Given the description of an element on the screen output the (x, y) to click on. 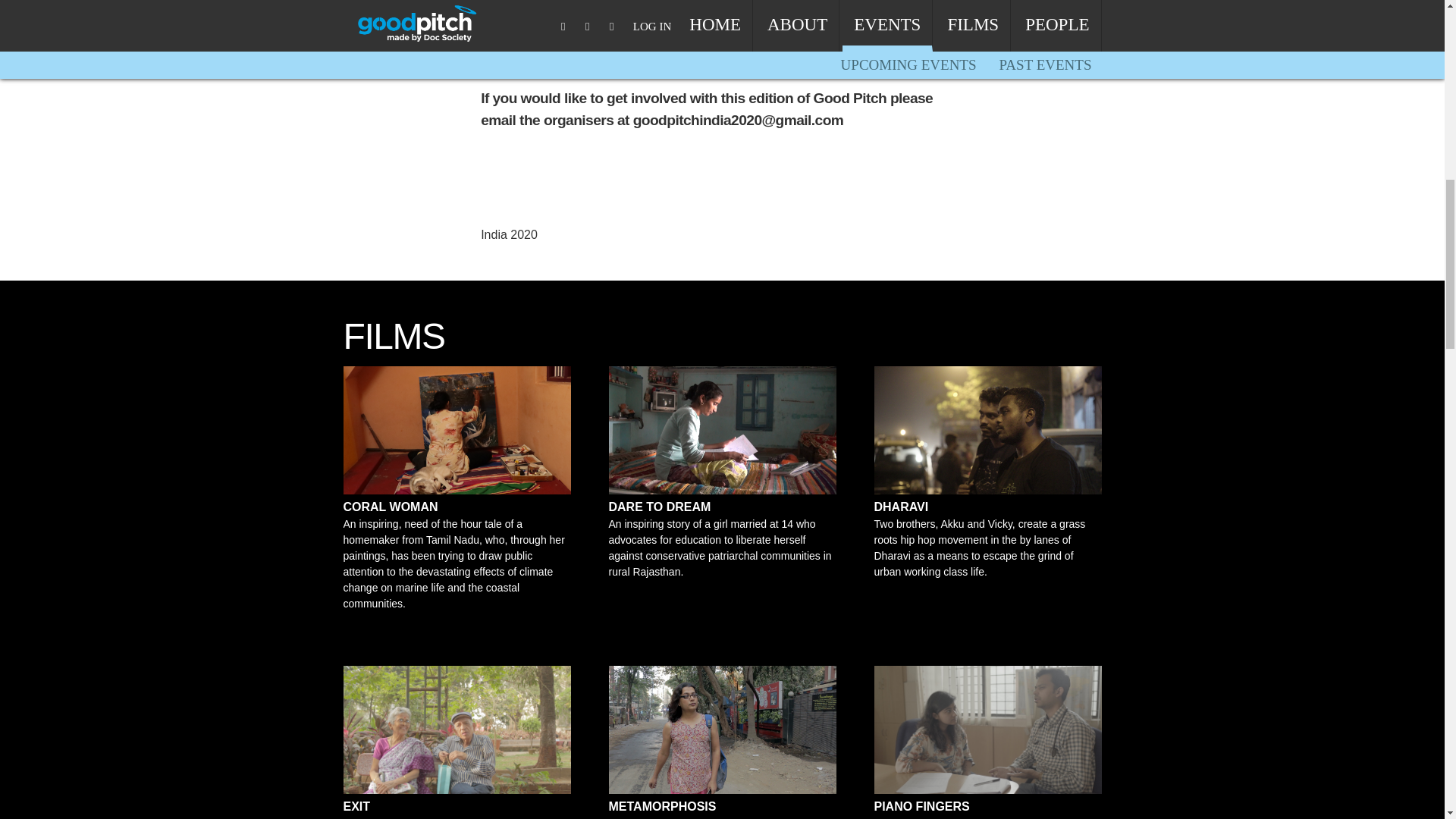
Piano Fingers (986, 729)
Coral Woman (456, 430)
Metamorphosis (721, 729)
Exit (456, 729)
DHARAVI (900, 506)
DARE TO DREAM (659, 506)
EXIT (355, 806)
PIANO FINGERS (921, 806)
CORAL WOMAN (390, 506)
Dare to Dream (721, 430)
METAMORPHOSIS (662, 806)
Dharavi (986, 430)
